Given the description of an element on the screen output the (x, y) to click on. 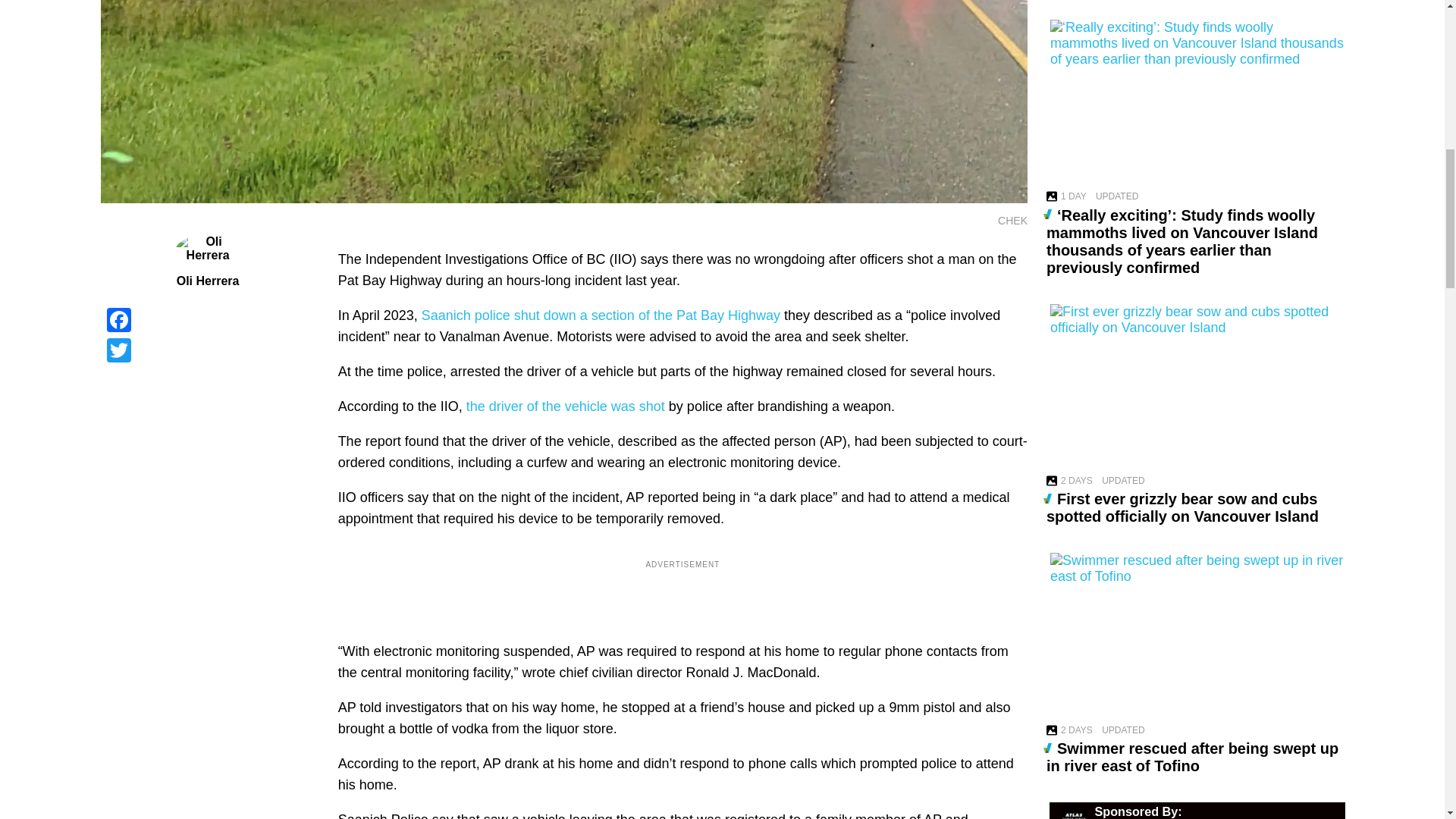
Twitter (207, 349)
Facebook (207, 319)
